Given the description of an element on the screen output the (x, y) to click on. 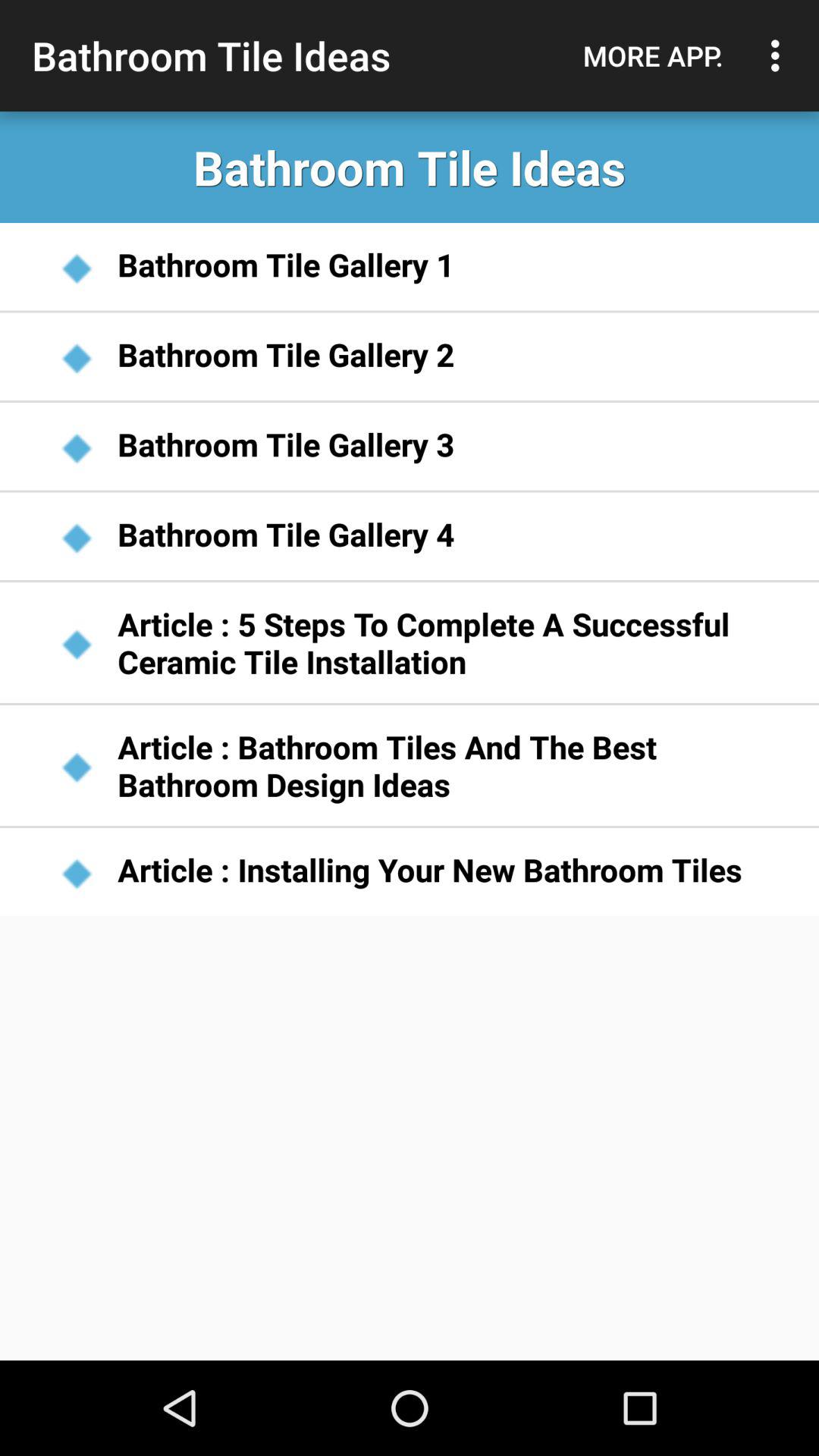
choose app to the right of the bathroom tile ideas item (653, 55)
